Given the description of an element on the screen output the (x, y) to click on. 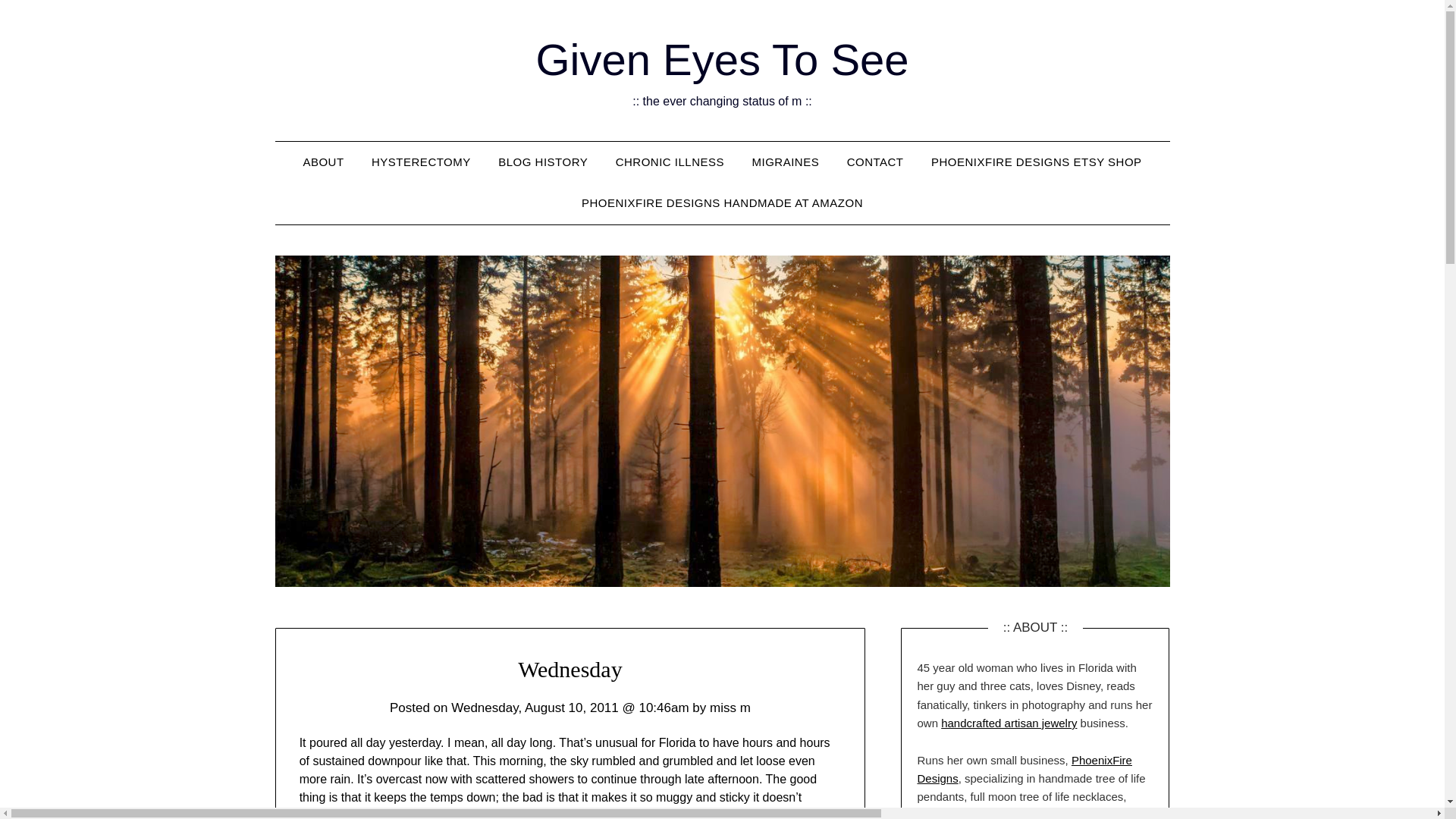
PHOENIXFIRE DESIGNS HANDMADE AT AMAZON (722, 202)
MIGRAINES (785, 161)
PHOENIXFIRE DESIGNS ETSY SHOP (1036, 161)
ABOUT (322, 161)
CHRONIC ILLNESS (670, 161)
BLOG HISTORY (542, 161)
Given Eyes To See (721, 59)
PhoenixFire Designs (1024, 768)
handcrafted artisan jewelry (1008, 722)
CONTACT (874, 161)
